Given the description of an element on the screen output the (x, y) to click on. 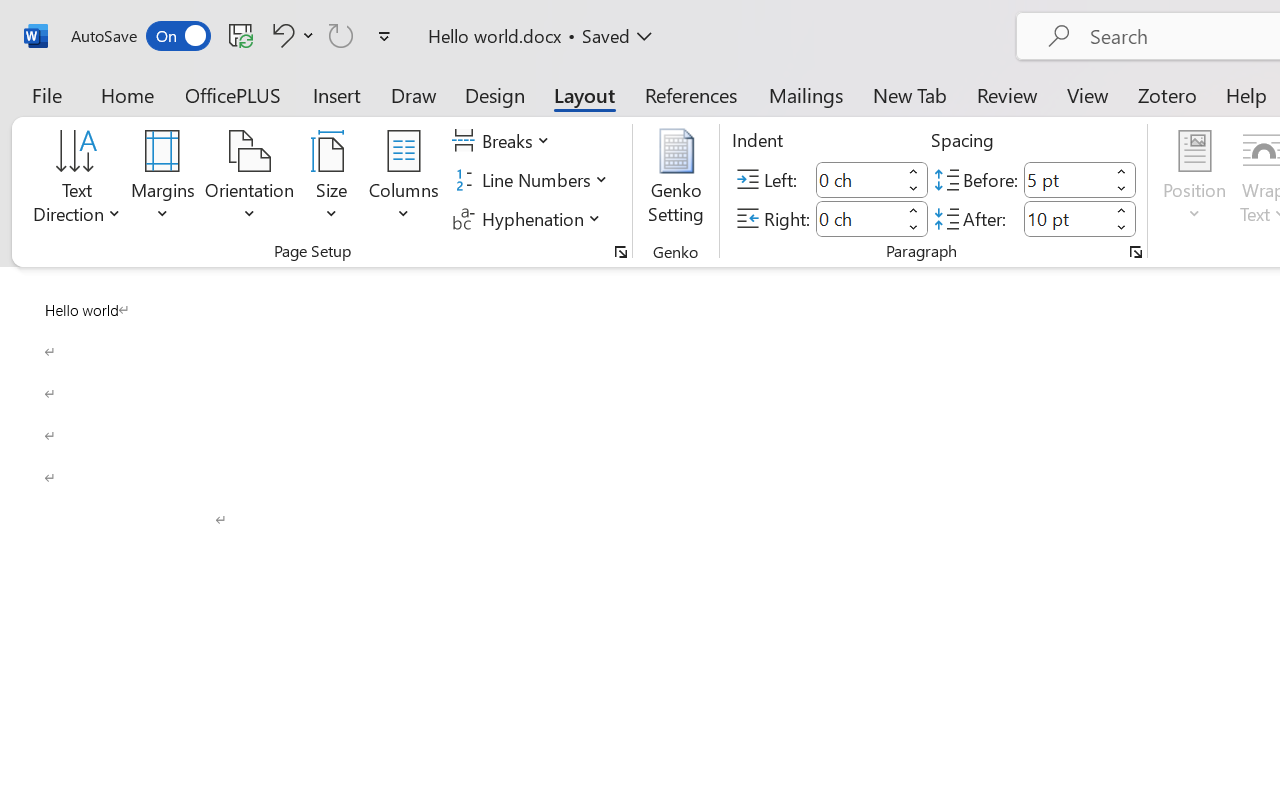
More (1121, 210)
OfficePLUS (233, 94)
Zotero (1166, 94)
Genko Setting... (676, 179)
Hyphenation (529, 218)
Paragraph... (1135, 252)
Line Numbers (532, 179)
Orientation (250, 179)
Margins (163, 179)
Breaks (504, 141)
